Given the description of an element on the screen output the (x, y) to click on. 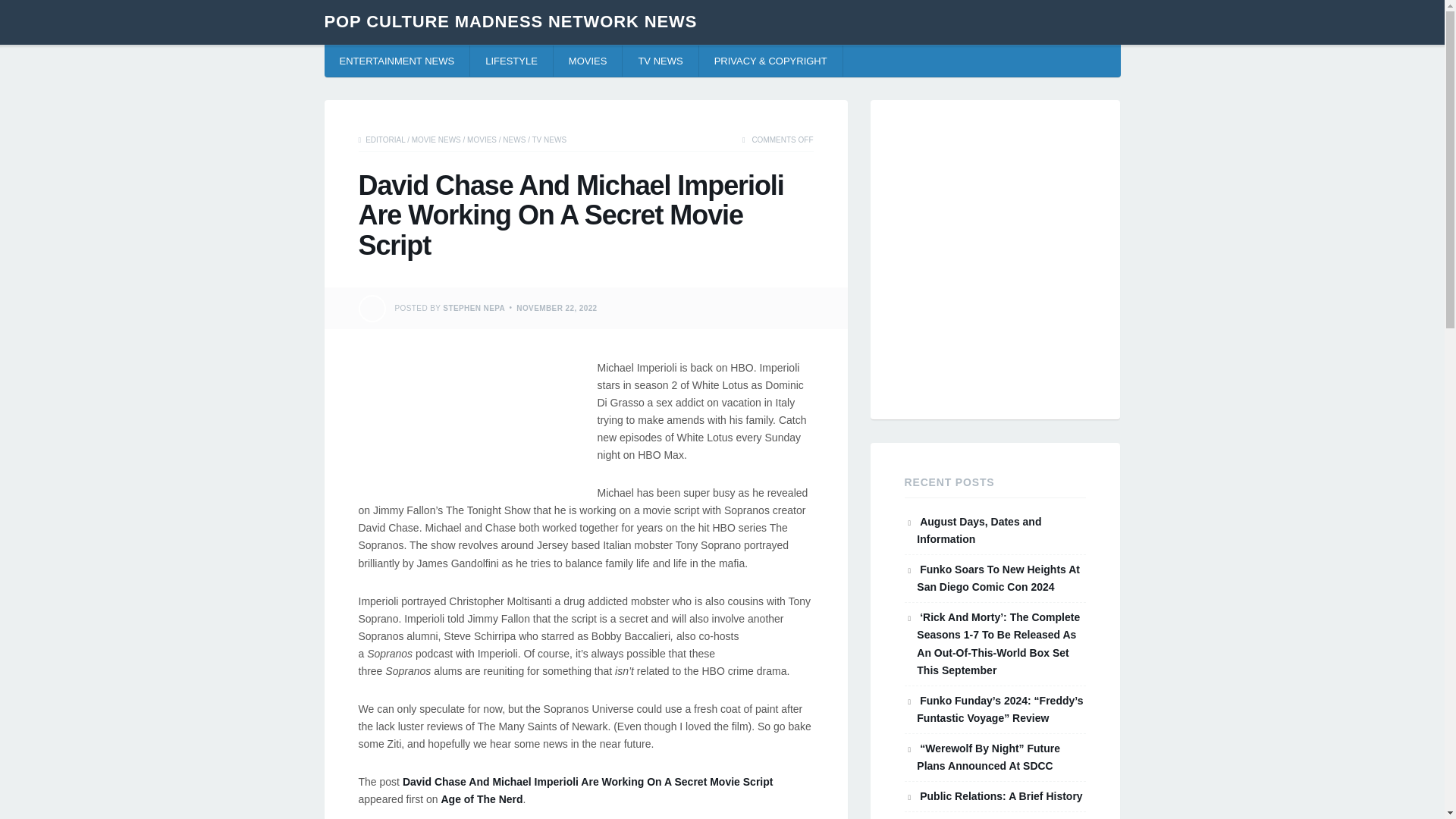
View all posts by Stephen Nepa (473, 307)
NEWS (513, 139)
Age of The Nerd (481, 799)
Public Relations: A Brief History (1000, 796)
POP CULTURE MADNESS NETWORK NEWS (510, 21)
MOVIES (588, 60)
MOVIE NEWS (436, 139)
NOVEMBER 22, 2022 (556, 307)
MOVIES (481, 139)
TV NEWS (660, 60)
TV NEWS (549, 139)
Funko Soars To New Heights At San Diego Comic Con 2024 (998, 577)
STEPHEN NEPA (473, 307)
LIFESTYLE (511, 60)
August Days, Dates and Information (979, 530)
